Given the description of an element on the screen output the (x, y) to click on. 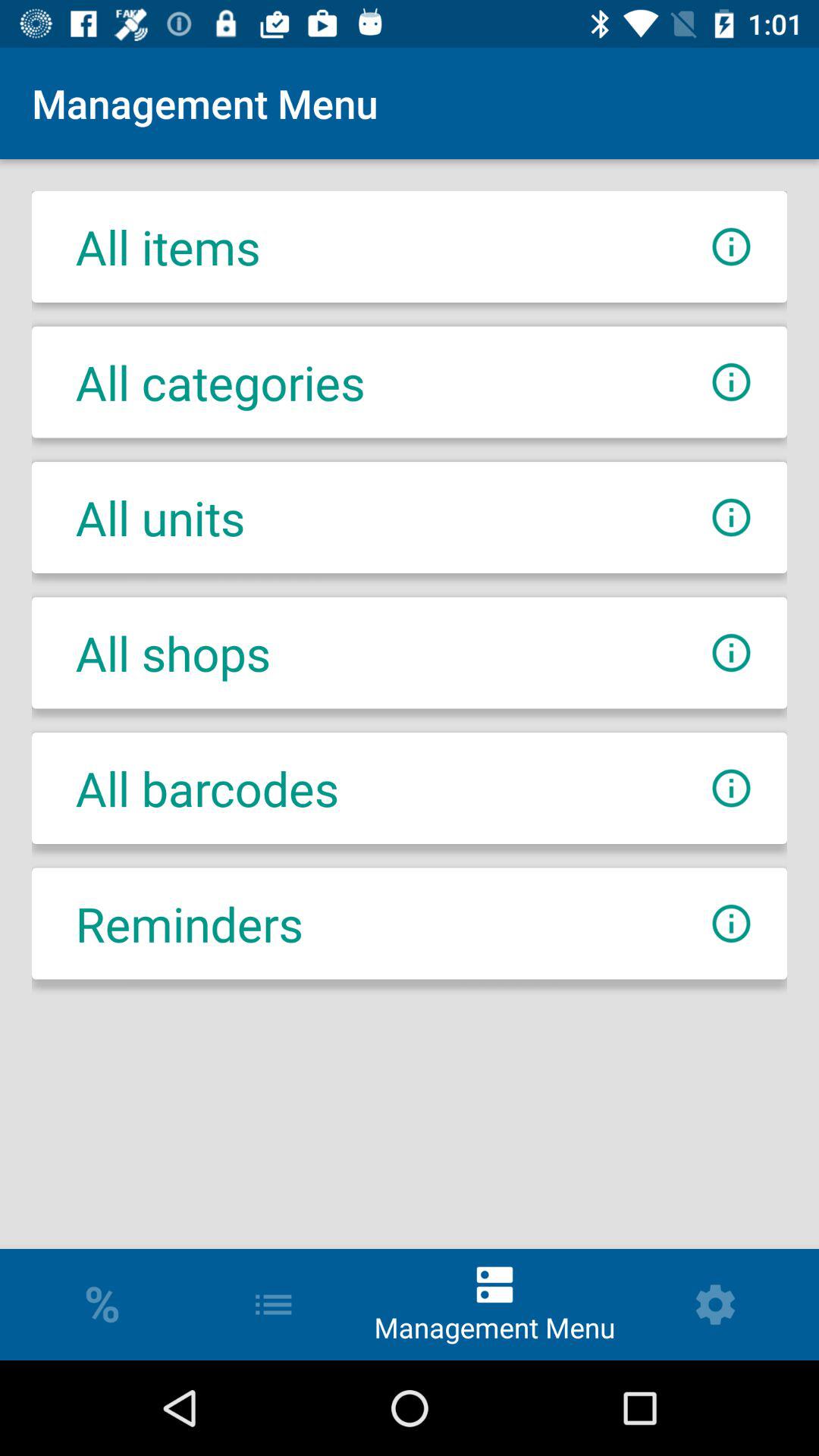
more information (731, 923)
